Given the description of an element on the screen output the (x, y) to click on. 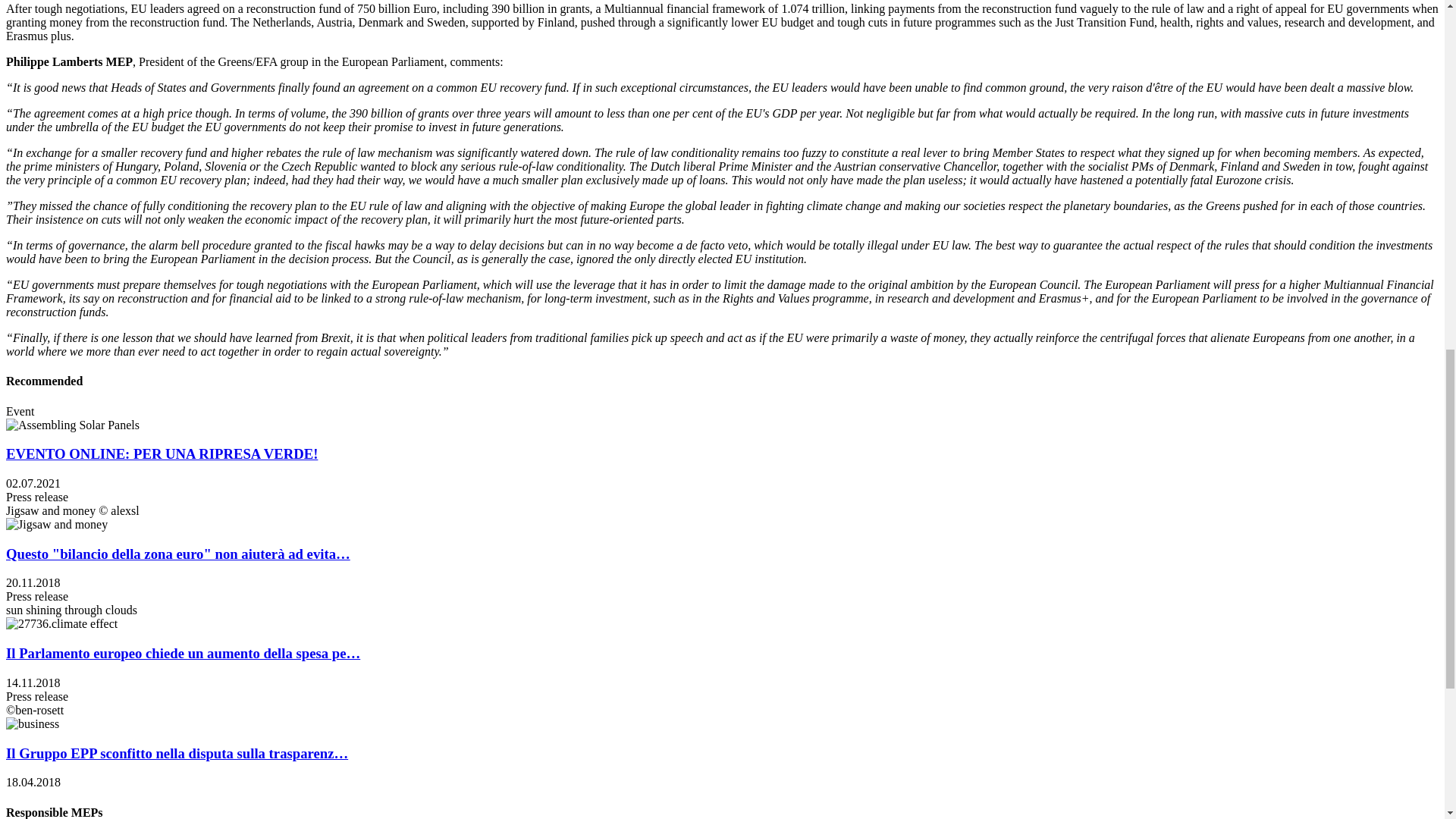
EVENTO ONLINE: PER UNA RIPRESA VERDE! (161, 453)
